Given the description of an element on the screen output the (x, y) to click on. 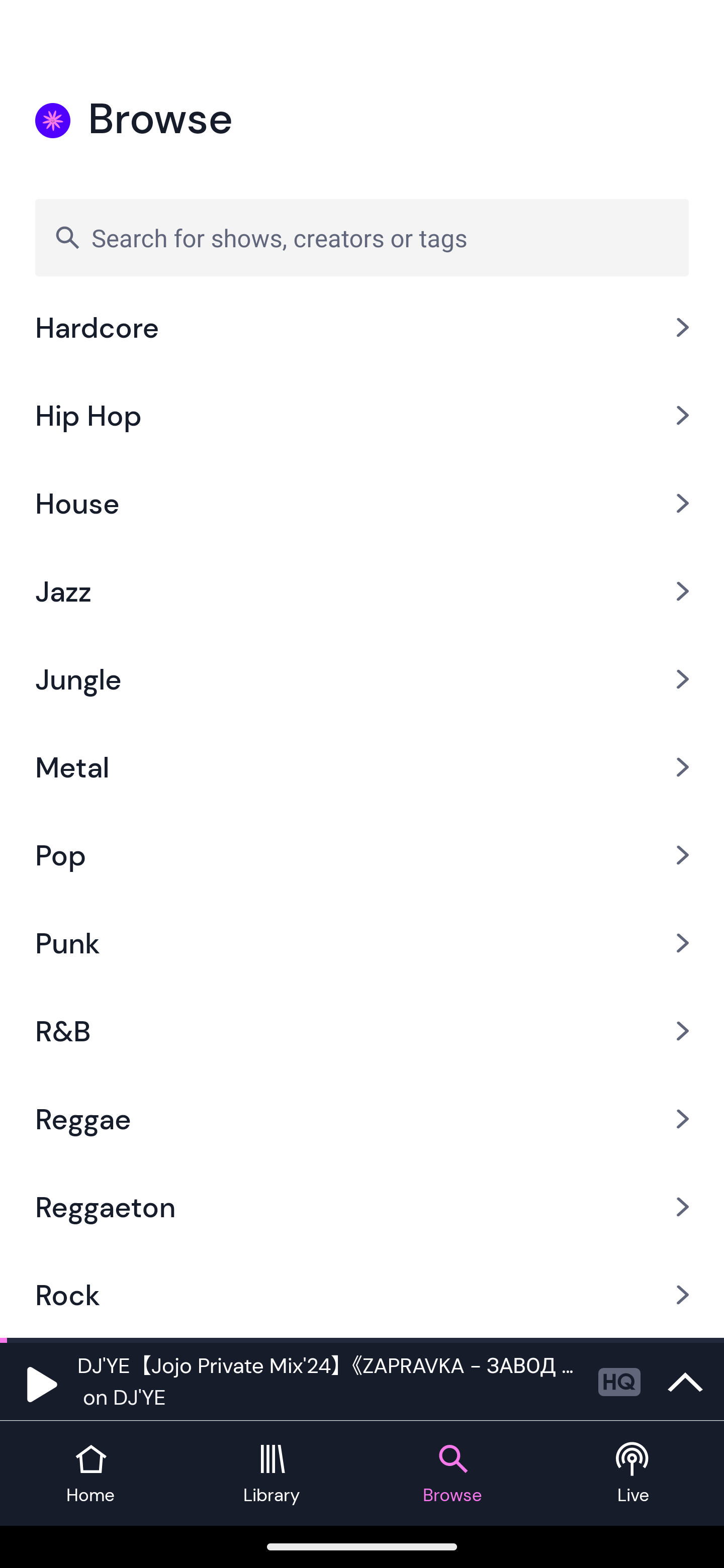
Search for shows, creators or tags (361, 237)
Hardcore (361, 336)
Hip Hop (361, 415)
House (361, 503)
Jazz (361, 591)
Jungle (361, 678)
Metal (361, 766)
Pop (361, 854)
Punk (361, 942)
R&B (361, 1030)
Reggae (361, 1119)
Reggaeton (361, 1207)
Rock (361, 1294)
Home tab Home (90, 1473)
Library tab Library (271, 1473)
Browse tab Browse (452, 1473)
Live tab Live (633, 1473)
